Given the description of an element on the screen output the (x, y) to click on. 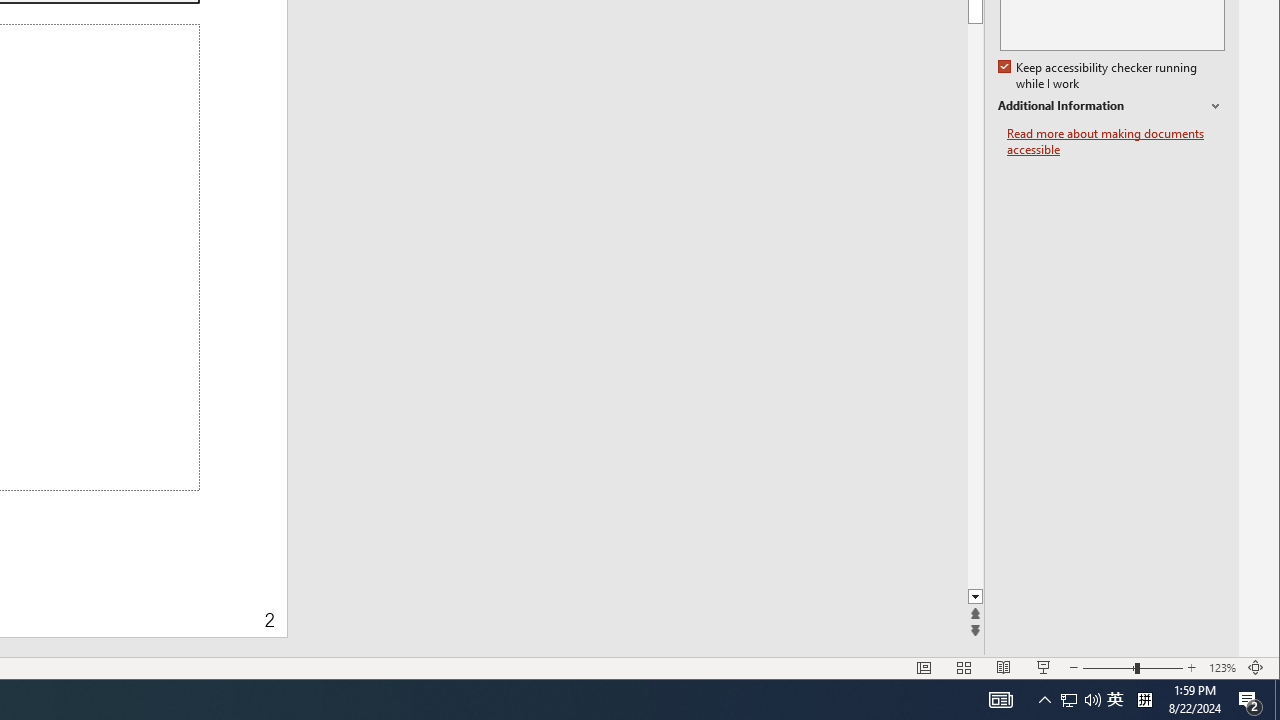
Zoom 123% (1222, 668)
